Given the description of an element on the screen output the (x, y) to click on. 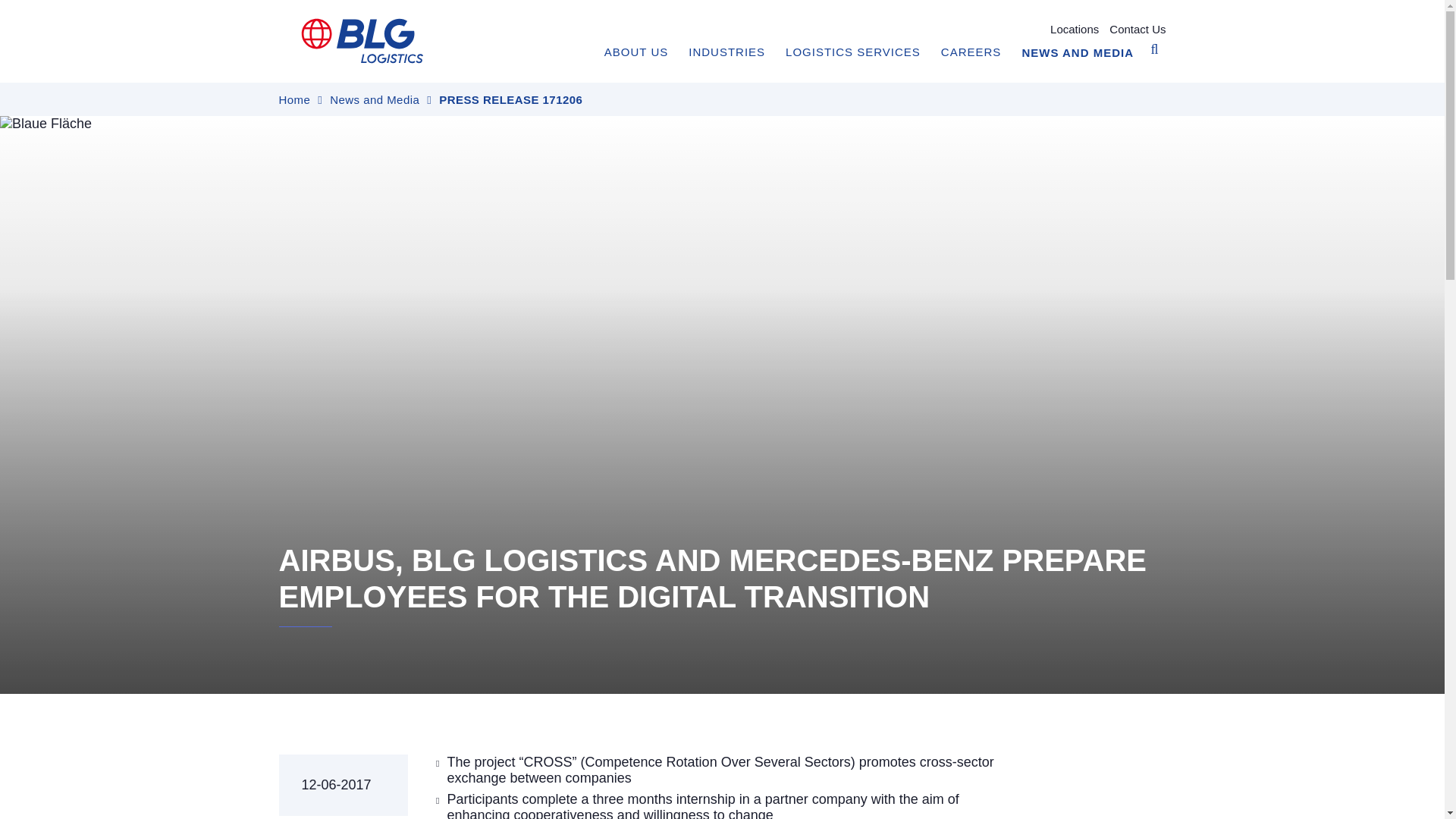
ABOUT US (636, 51)
Locations (1074, 27)
Contact Us (1137, 27)
News and Media (374, 99)
INDUSTRIES (726, 51)
LOGISTICS SERVICES (853, 51)
NEWS AND MEDIA (1078, 51)
CAREERS (970, 51)
Home (295, 99)
